Given the description of an element on the screen output the (x, y) to click on. 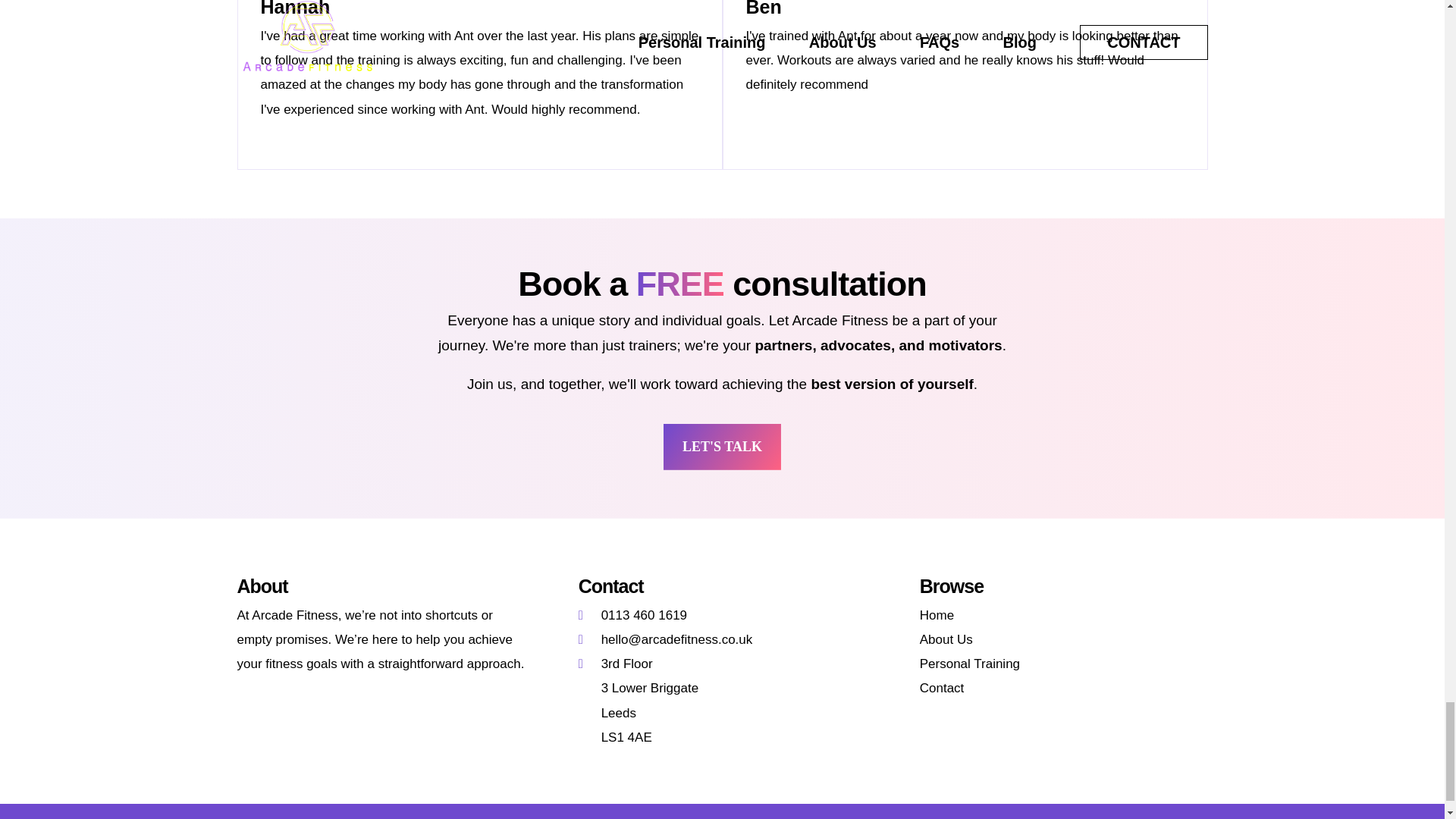
LET'S TALK (721, 447)
About Us (946, 639)
0113 460 1619 (632, 615)
Home (936, 615)
